Given the description of an element on the screen output the (x, y) to click on. 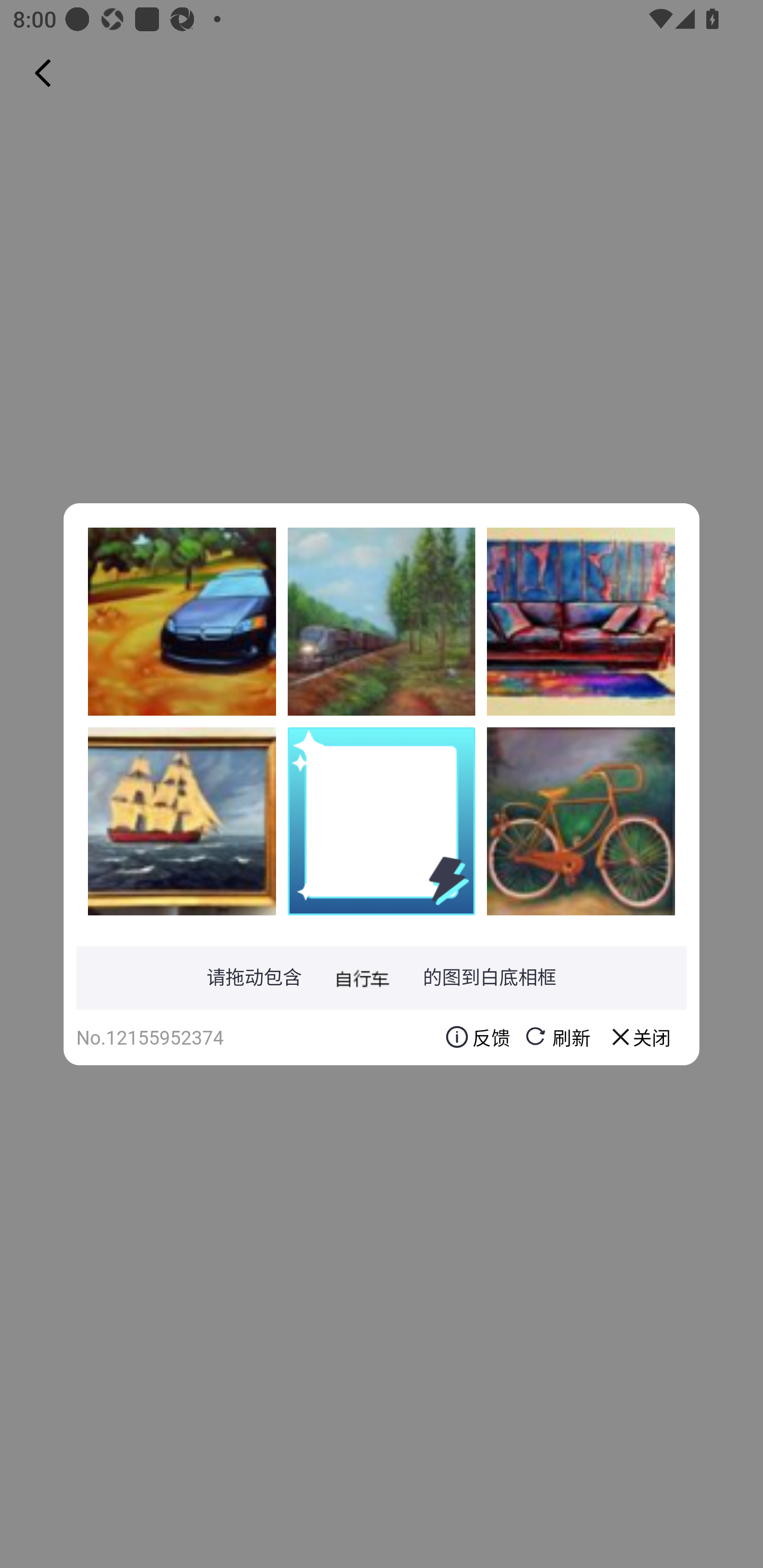
spHzpF7s (580, 621)
qCNXx138uFglF (580, 820)
